Given the description of an element on the screen output the (x, y) to click on. 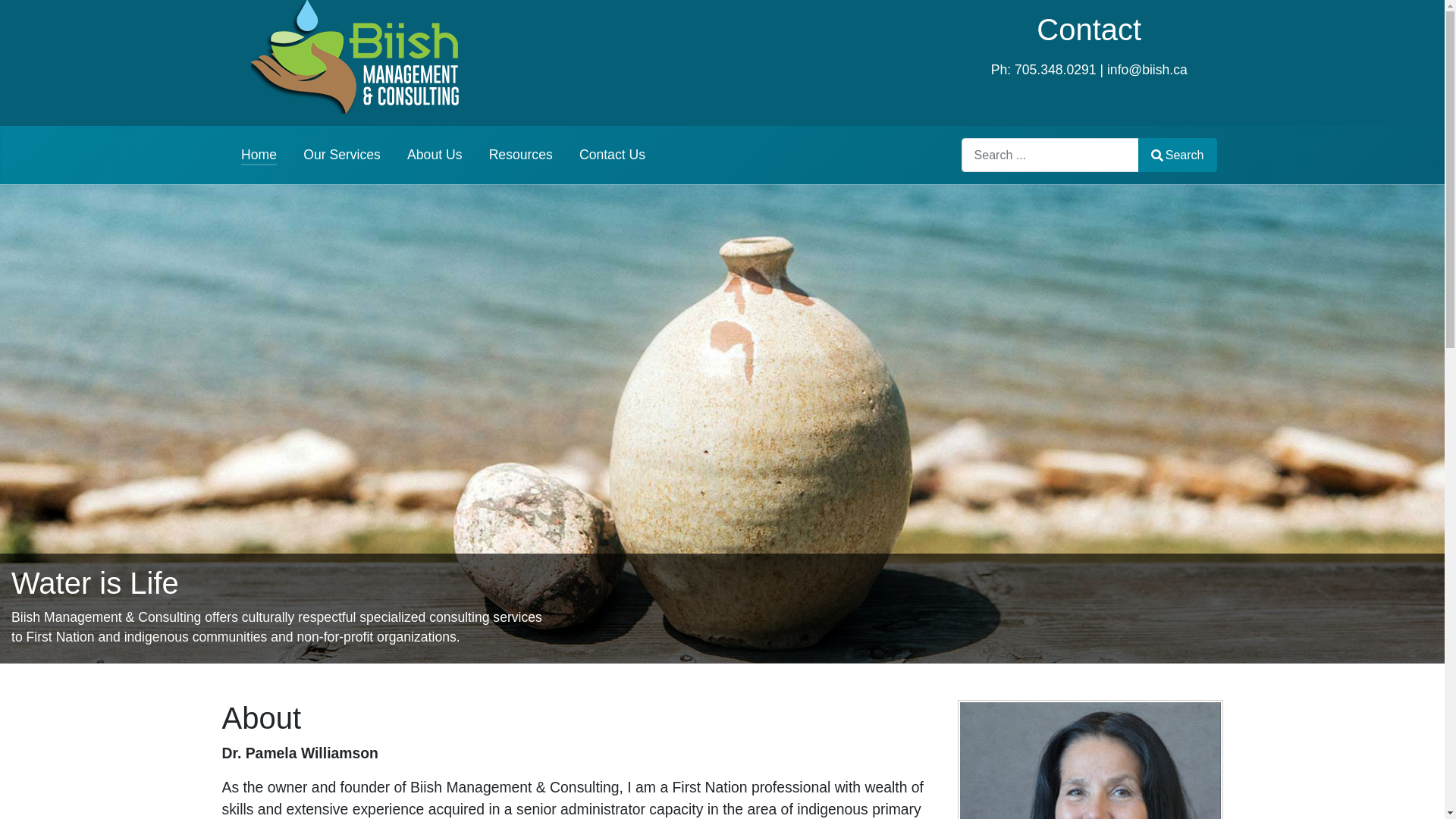
Contact Us Element type: text (612, 154)
Home Element type: text (258, 154)
Logo, Biish Management & Consulting Element type: hover (355, 56)
Water is Life-image of water jug and shore line Element type: hover (722, 423)
Resources Element type: text (520, 154)
Ph: 705.348.0291 Element type: text (1043, 69)
info@biish.ca Element type: text (1147, 69)
Search Element type: text (1177, 155)
About Us Element type: text (434, 154)
Our Services Element type: text (341, 154)
